Given the description of an element on the screen output the (x, y) to click on. 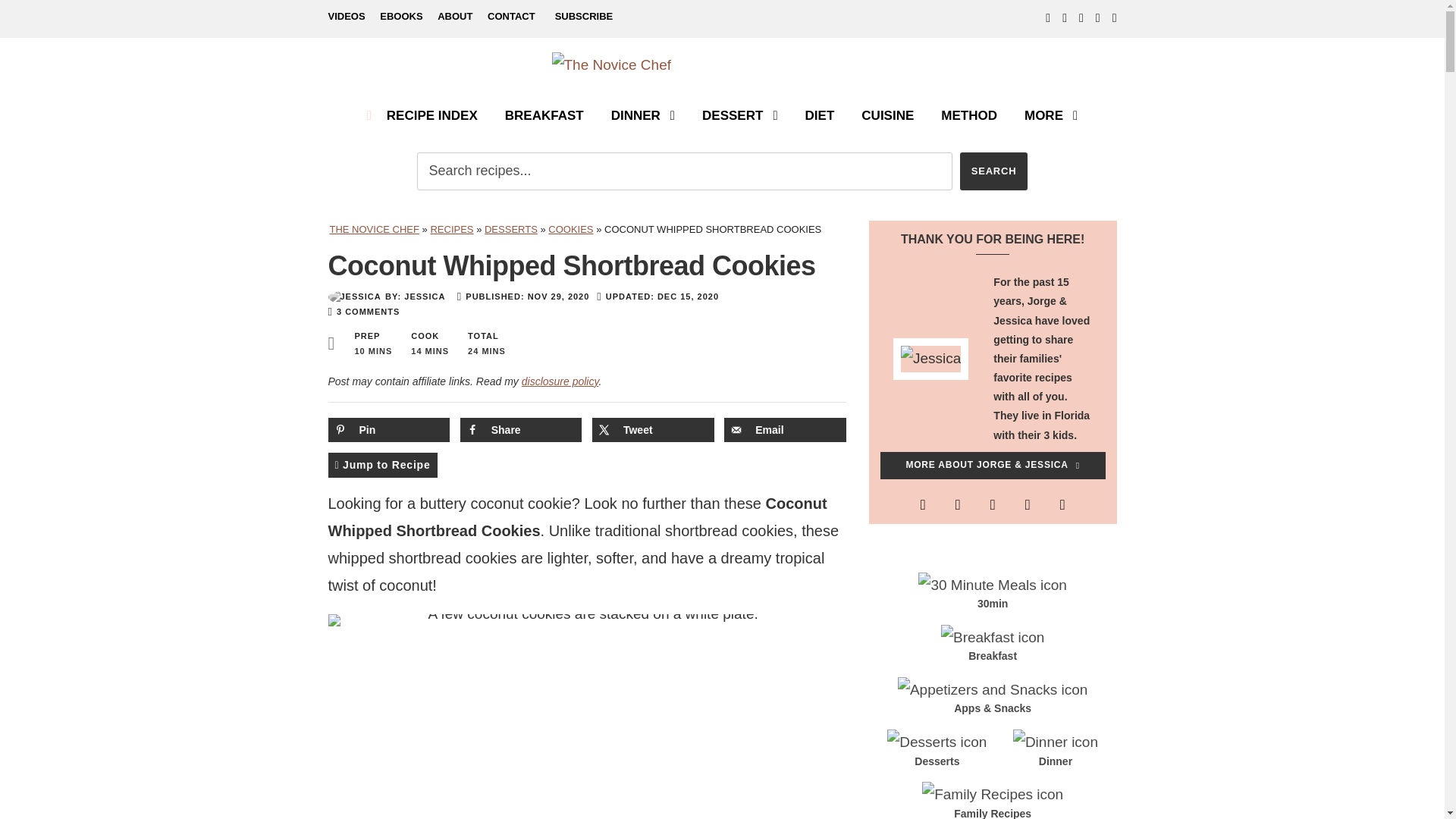
Share on Facebook (521, 429)
BREAKFAST (544, 122)
CONTACT (511, 19)
ABOUT (454, 19)
MORE (1051, 122)
Send over email (784, 429)
Save to Pinterest (388, 429)
Share on X (653, 429)
RECIPE INDEX (421, 122)
SUBSCRIBE (583, 16)
EBOOKS (401, 19)
VIDEOS (346, 19)
Search (993, 171)
DESSERT (739, 122)
Search (993, 171)
